Given the description of an element on the screen output the (x, y) to click on. 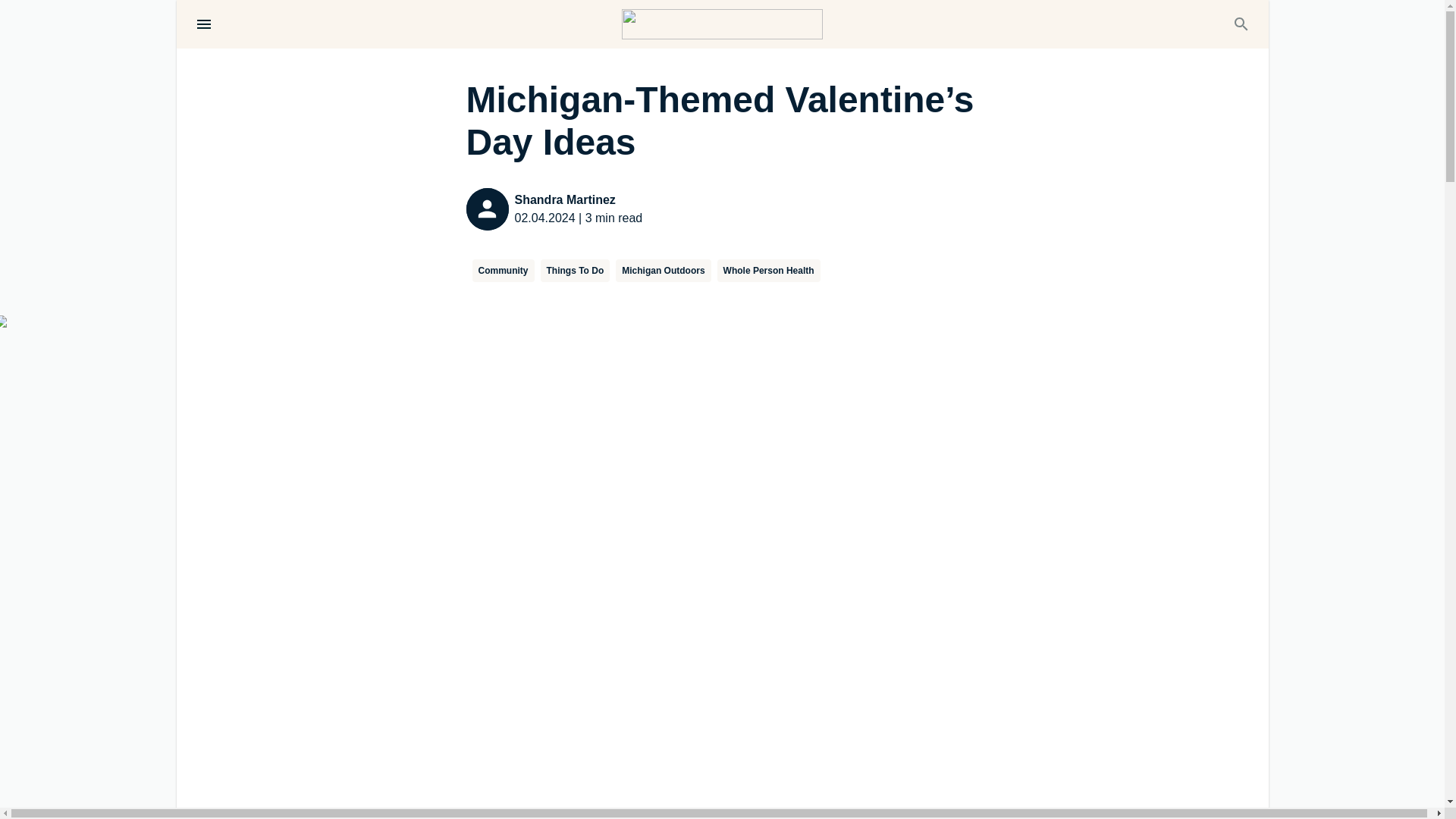
Community (502, 270)
Whole Person Health (769, 270)
Shandra Martinez (577, 199)
Michigan Outdoors (662, 270)
Things To Do (575, 270)
